Given the description of an element on the screen output the (x, y) to click on. 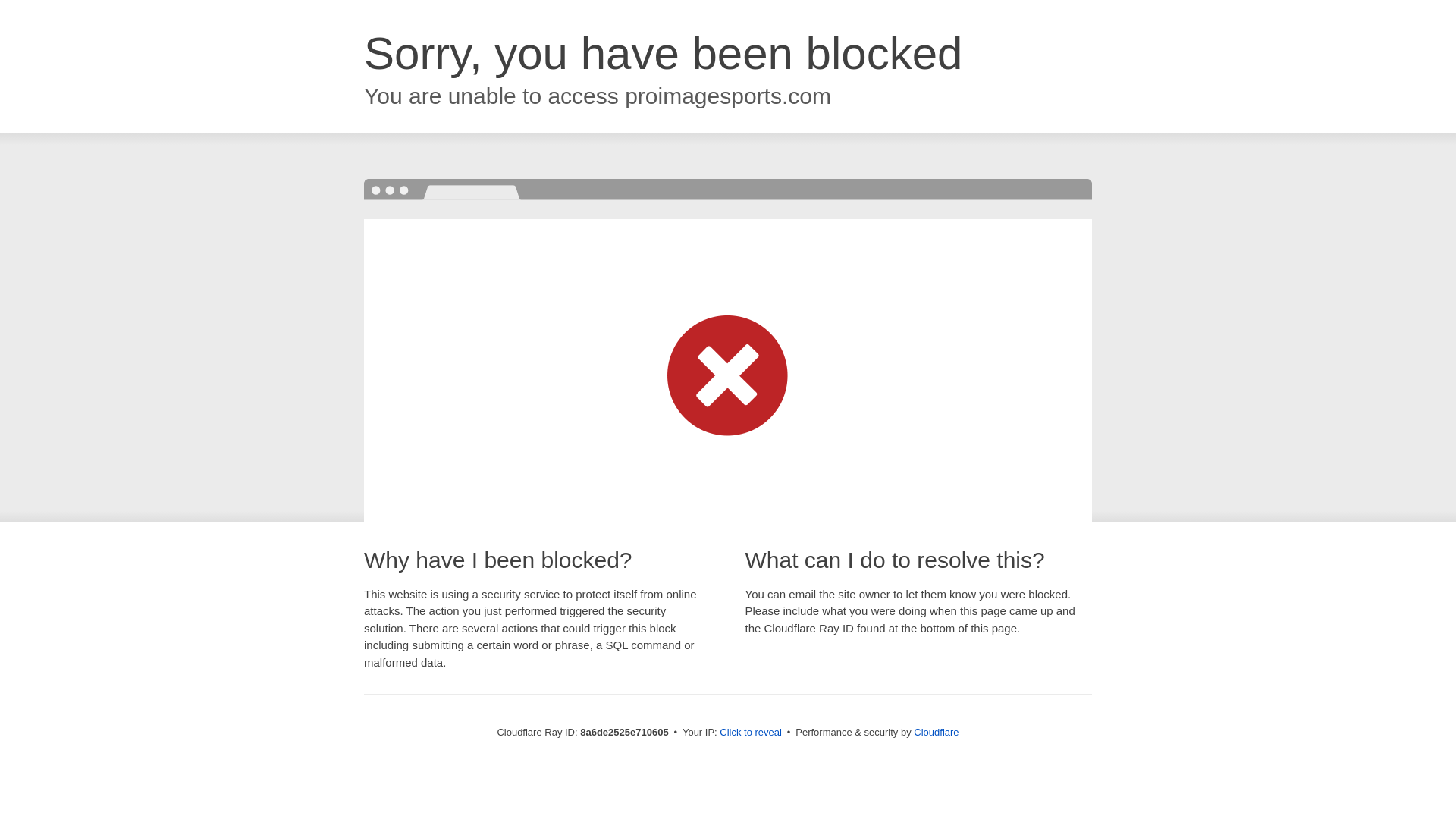
Click to reveal (750, 732)
Cloudflare (936, 731)
